Given the description of an element on the screen output the (x, y) to click on. 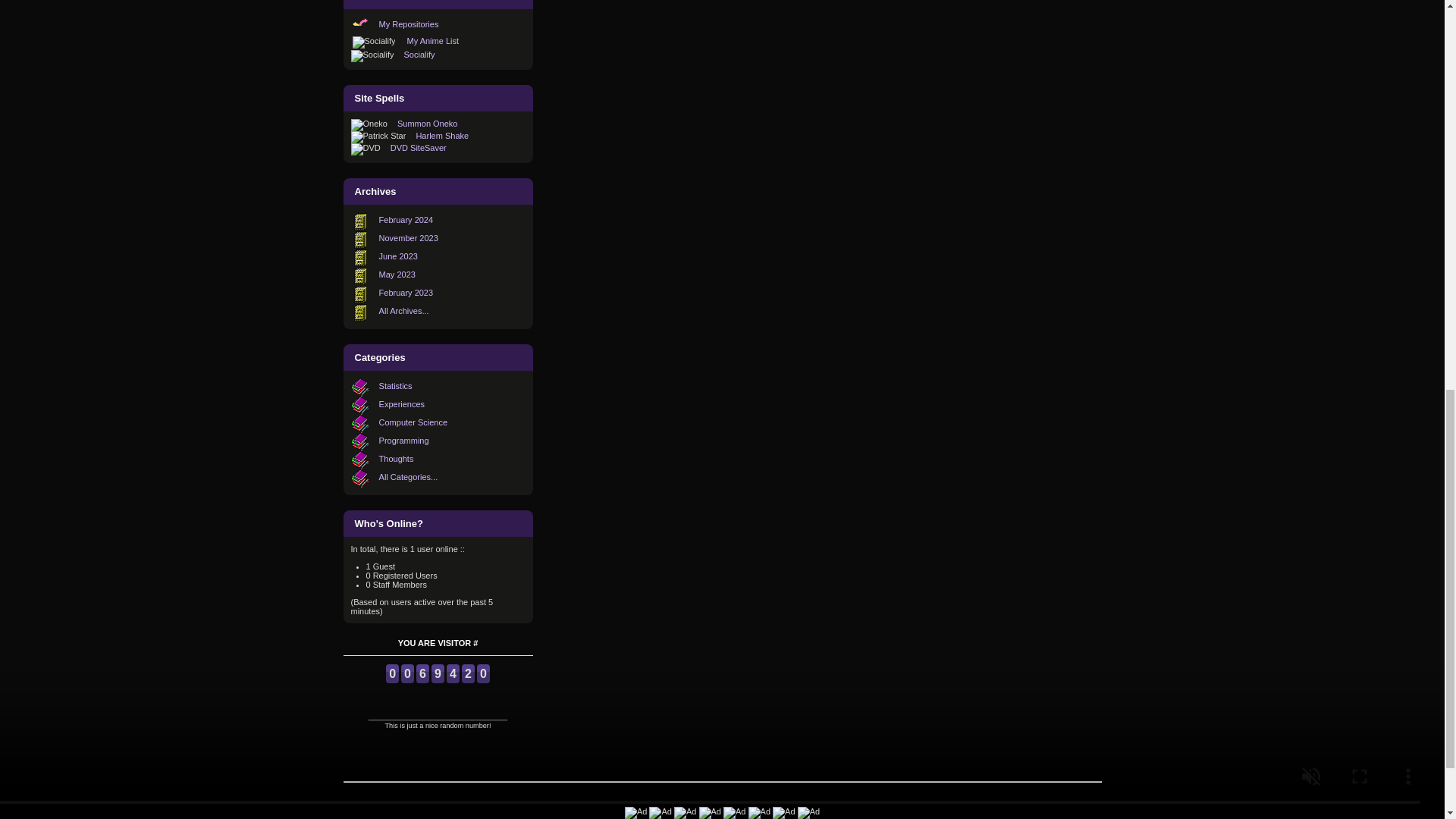
Statistics (395, 385)
Harlem Shake (441, 135)
Socialify (419, 53)
Summon Oneko (427, 122)
My Repositories (408, 23)
DVD SiteSaver (418, 147)
My Anime List (432, 40)
June 2023 (397, 256)
February 2023 (405, 292)
May 2023 (396, 274)
